Given the description of an element on the screen output the (x, y) to click on. 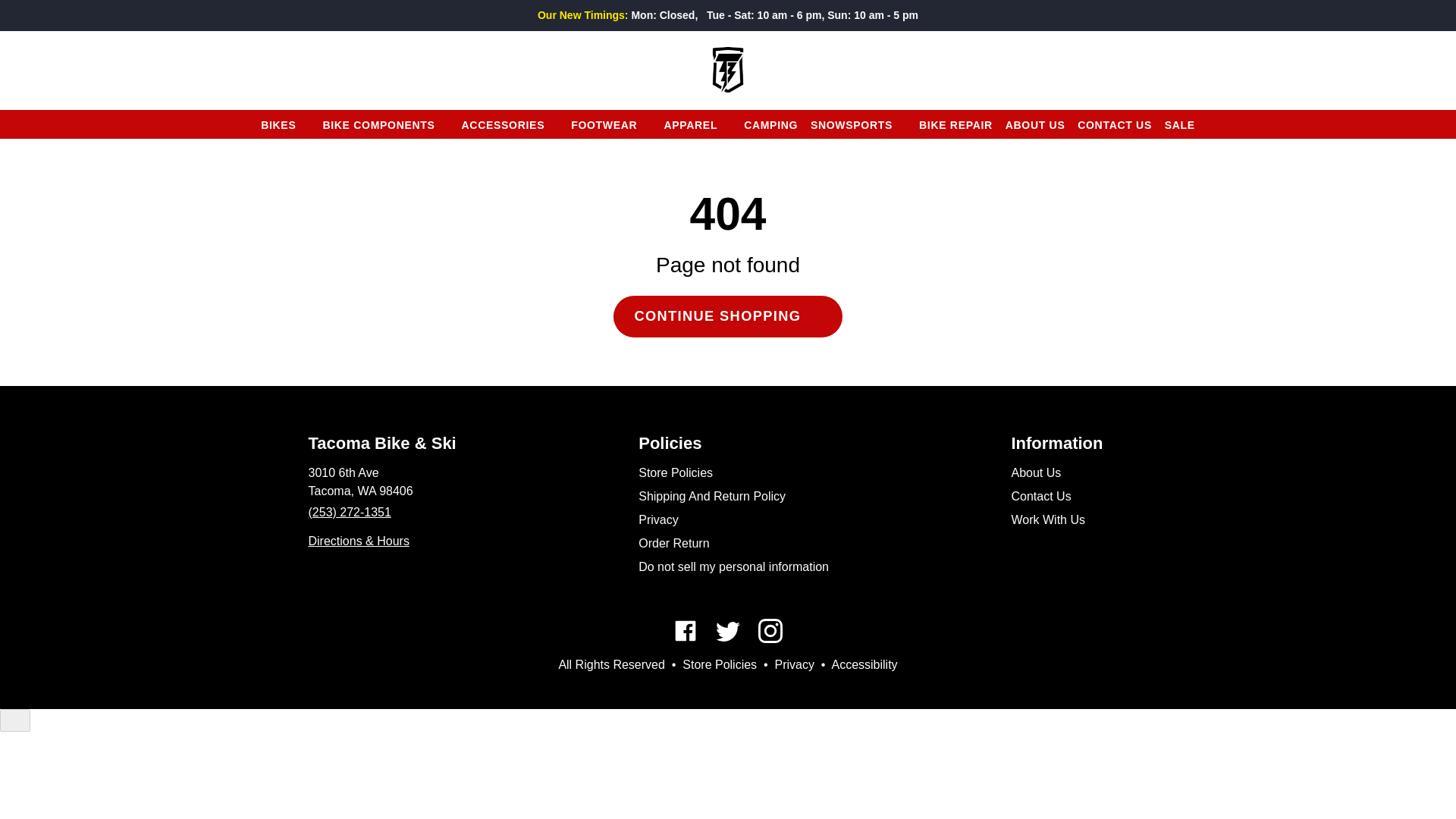
BIKE COMPONENTS (384, 125)
CART (1422, 68)
LOG IN (1357, 68)
BIKES (284, 125)
SEARCH (39, 68)
Contact (358, 540)
